Given the description of an element on the screen output the (x, y) to click on. 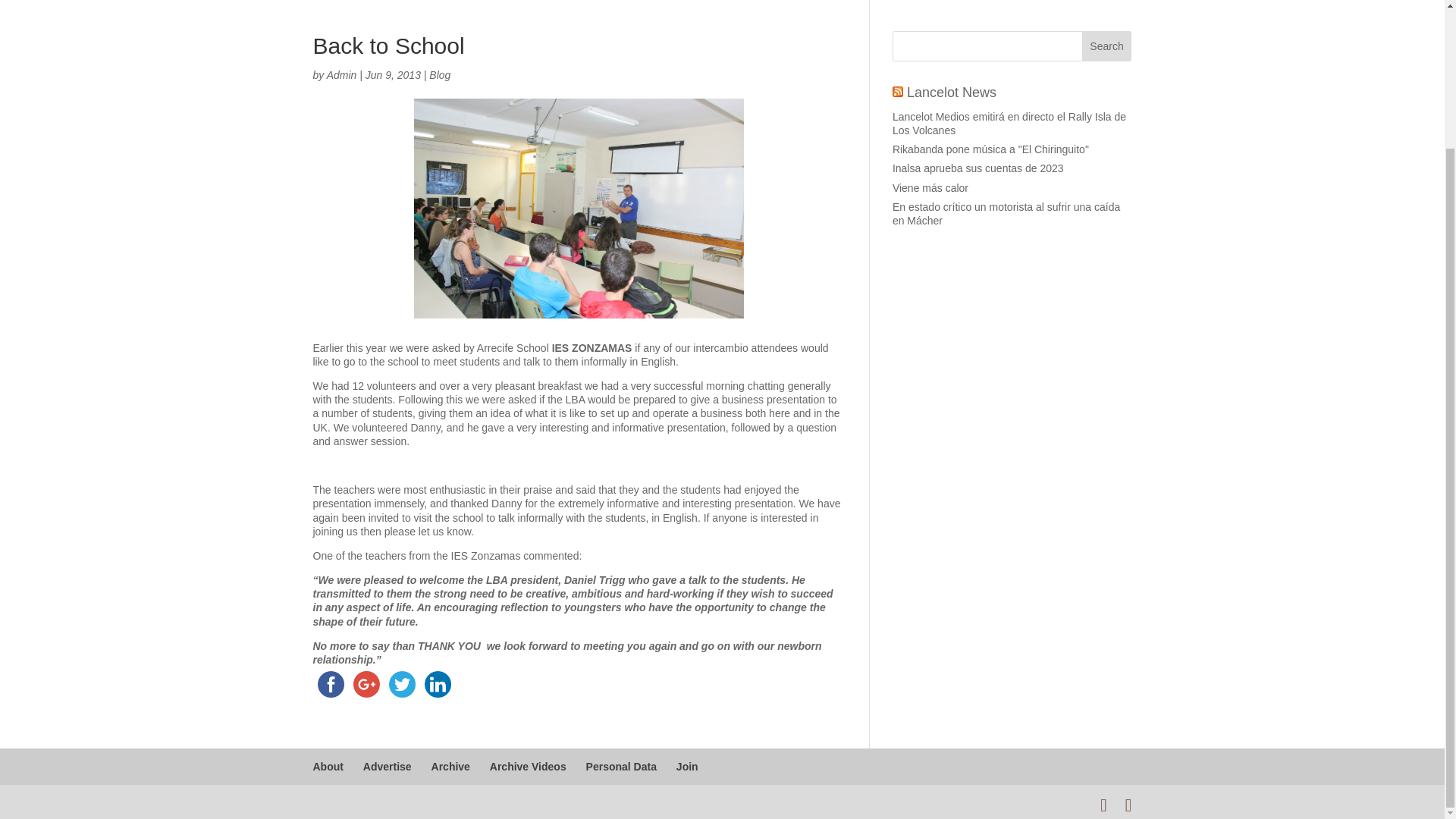
Archive Videos (527, 766)
Advertise (387, 766)
About (327, 766)
Search (1106, 46)
Search (1106, 46)
Blog (439, 74)
Join (687, 766)
twitter (401, 683)
Personal Data (621, 766)
facebook (330, 683)
Lancelot News (951, 92)
Admin (341, 74)
Inalsa aprueba sus cuentas de 2023 (978, 168)
google (366, 683)
Archive (450, 766)
